Given the description of an element on the screen output the (x, y) to click on. 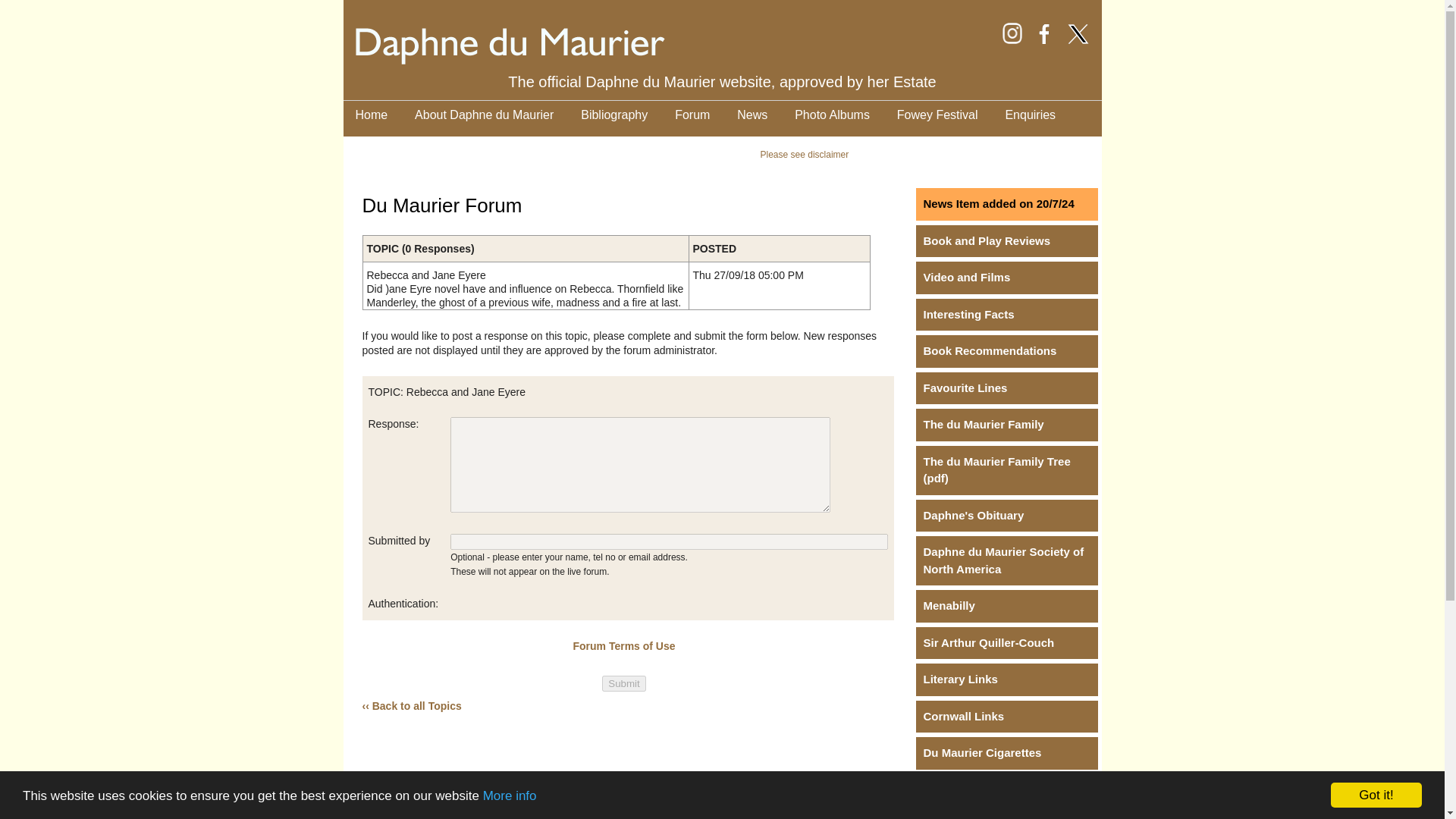
News (751, 115)
Menabilly (1006, 605)
Forum Terms of Use (623, 645)
Sir Arthur Quiller-Couch (1006, 643)
Interesting Facts (1006, 314)
Du Maurier Cigarettes (1006, 753)
Jamaica Inn (1006, 814)
Book Recommendations (1006, 350)
About Daphne du Maurier (483, 115)
Favourite Lines (1006, 388)
Daphne du Maurier Society of North America (1006, 560)
Book and Play Reviews (1006, 241)
Daphne's Obituary (1006, 515)
Home (370, 115)
Fowey Festival (937, 115)
